Given the description of an element on the screen output the (x, y) to click on. 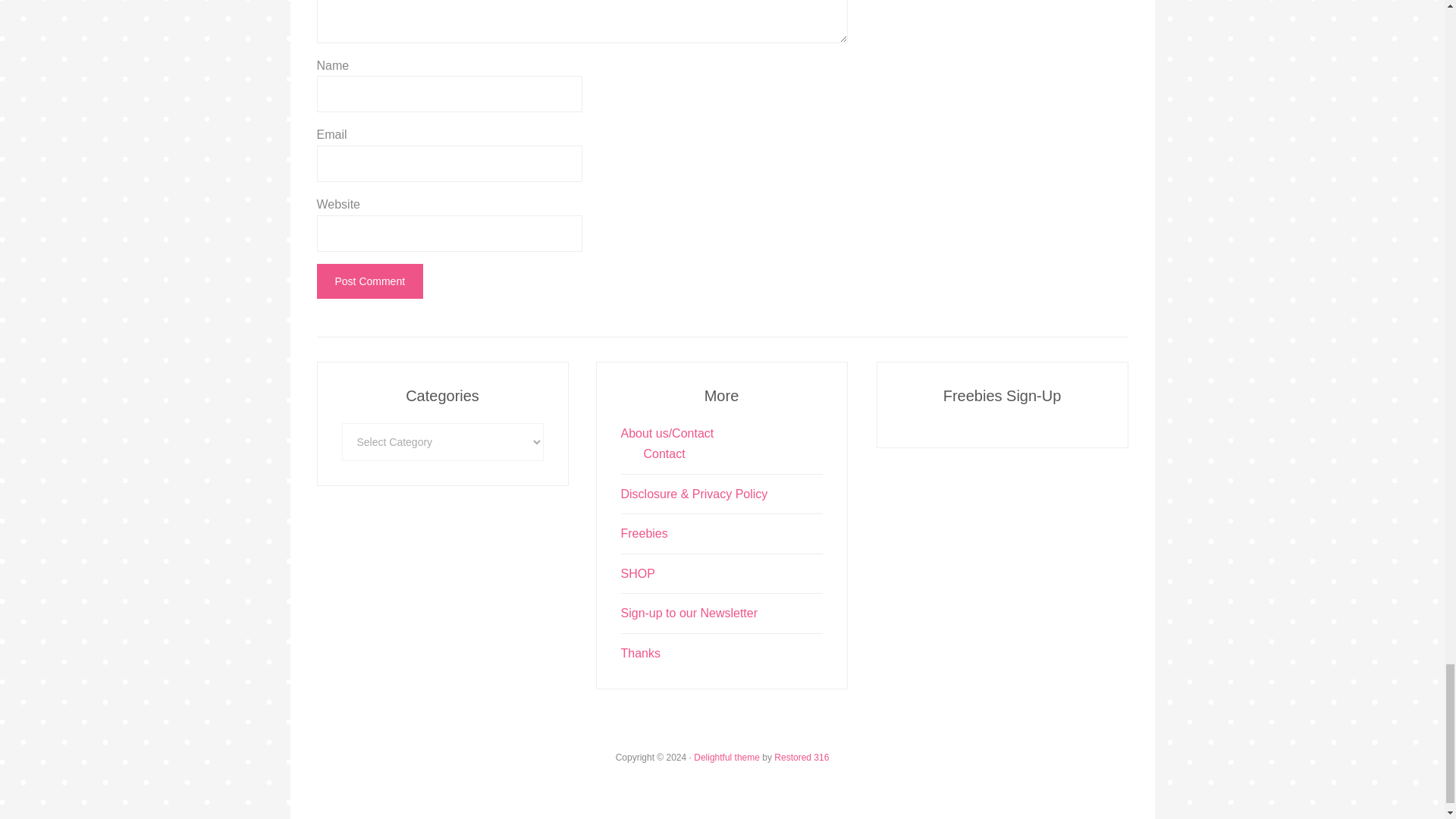
Post Comment (370, 280)
